Given the description of an element on the screen output the (x, y) to click on. 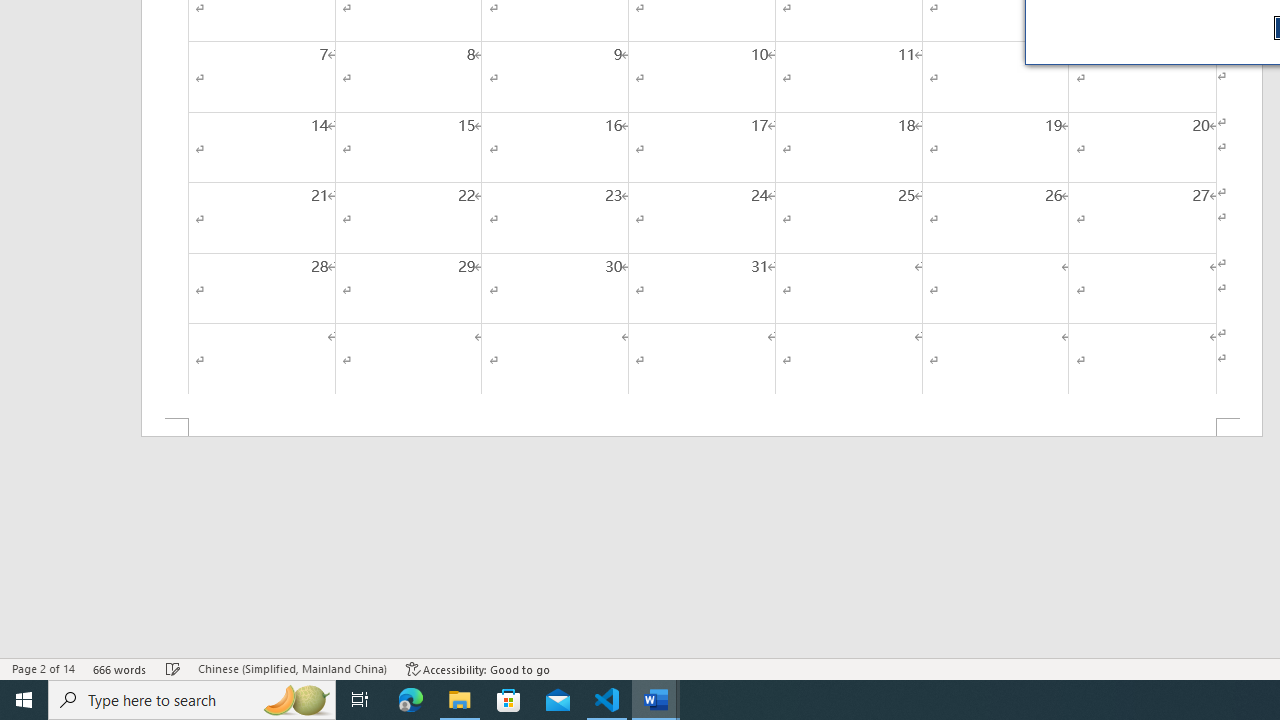
Page Number Page 2 of 14 (43, 668)
